Given the description of an element on the screen output the (x, y) to click on. 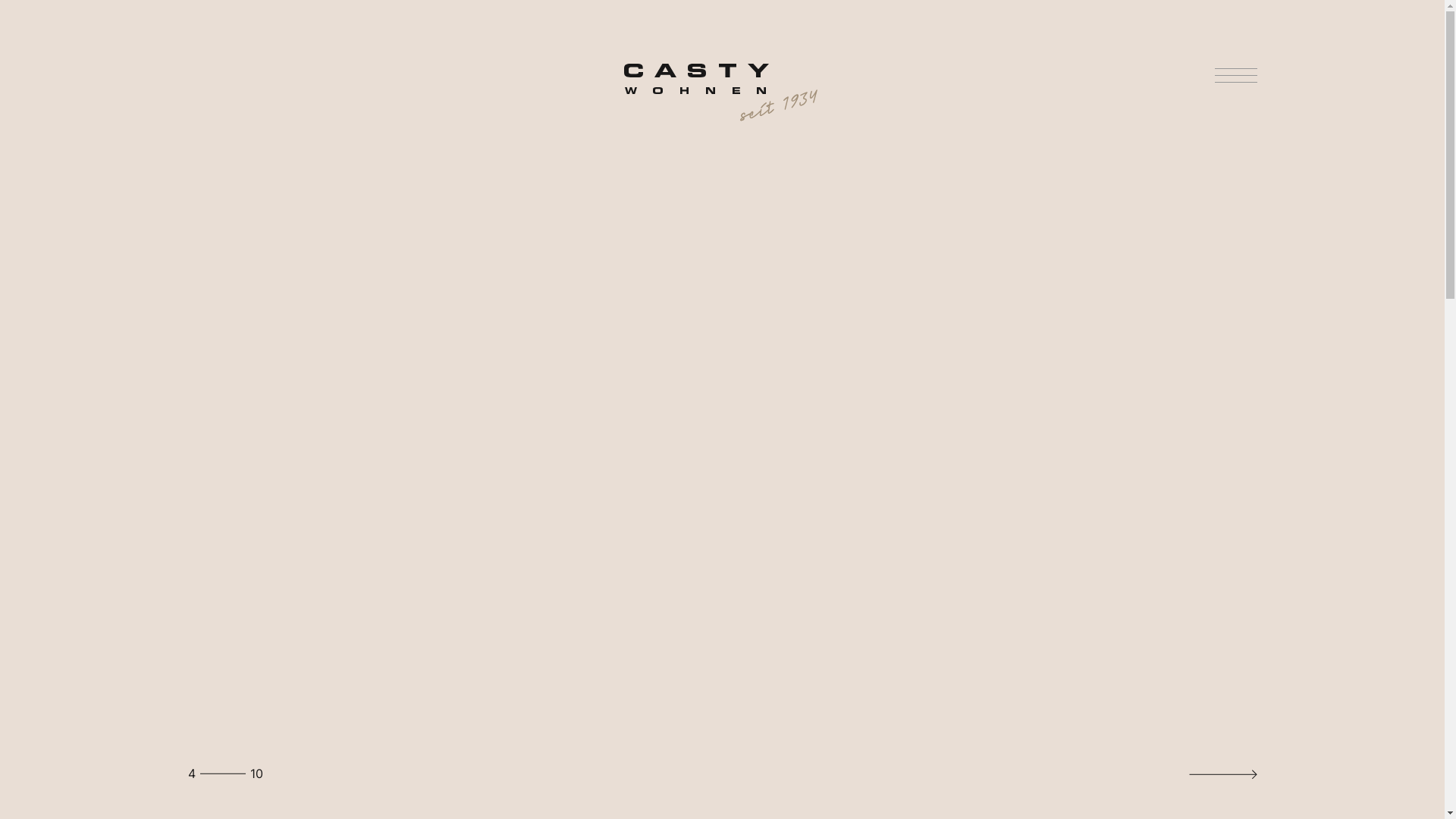
Weiter Element type: text (1223, 772)
Startseite Element type: text (722, 92)
